Given the description of an element on the screen output the (x, y) to click on. 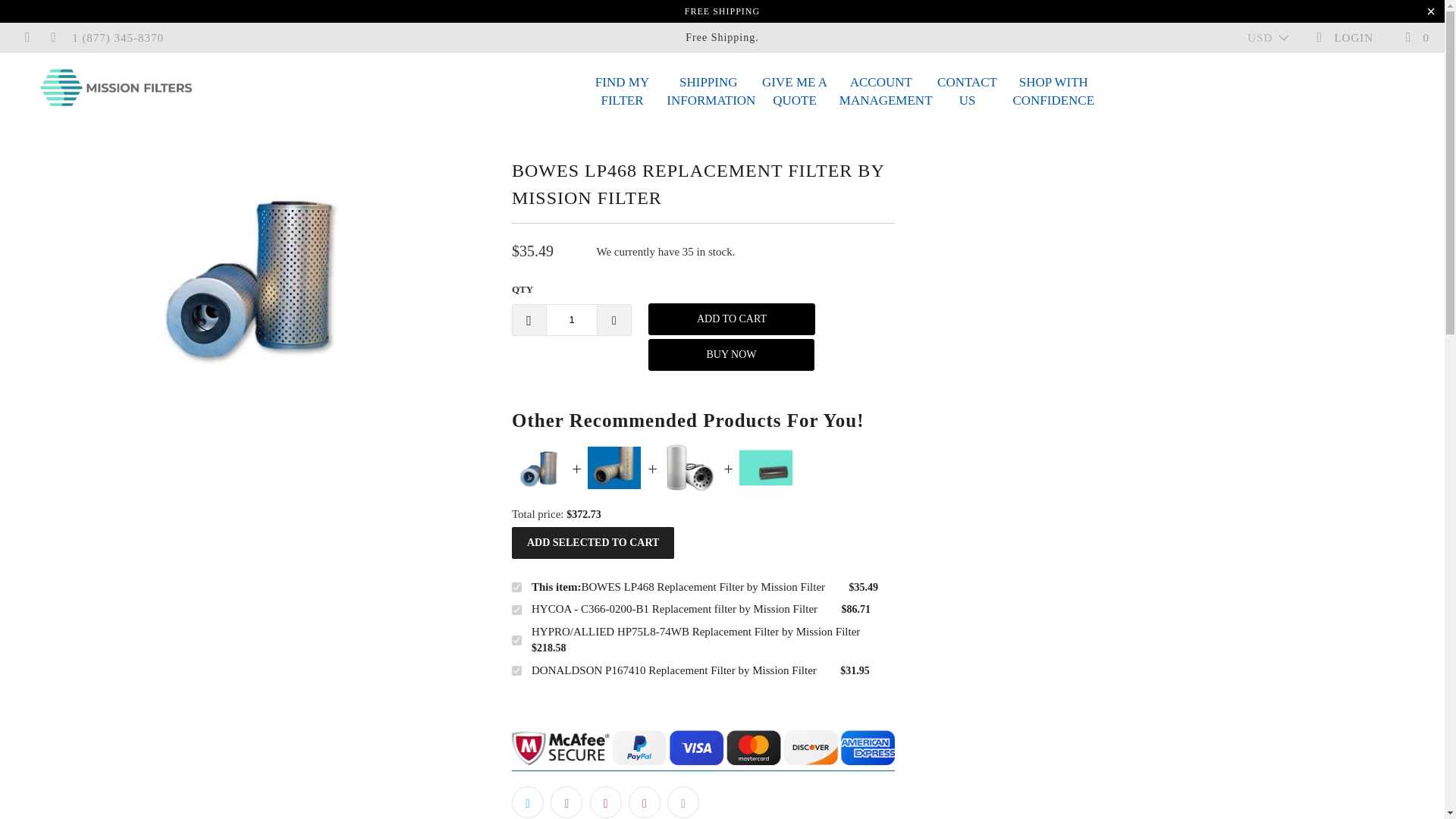
Share this on Facebook (566, 802)
SHOP WITH CONFIDENCE (1052, 91)
FIND MY FILTER (621, 91)
Mission Filter on Facebook (26, 37)
Share this on Pinterest (605, 802)
Email this to a friend (682, 802)
ACCOUNT MANAGEMENT (881, 91)
Share this on Twitter (527, 802)
4651135795281 (516, 640)
My Account  (1344, 37)
GIVE ME A QUOTE (793, 91)
1 (571, 318)
SHIPPING INFORMATION (967, 91)
Buy Now (707, 91)
